Given the description of an element on the screen output the (x, y) to click on. 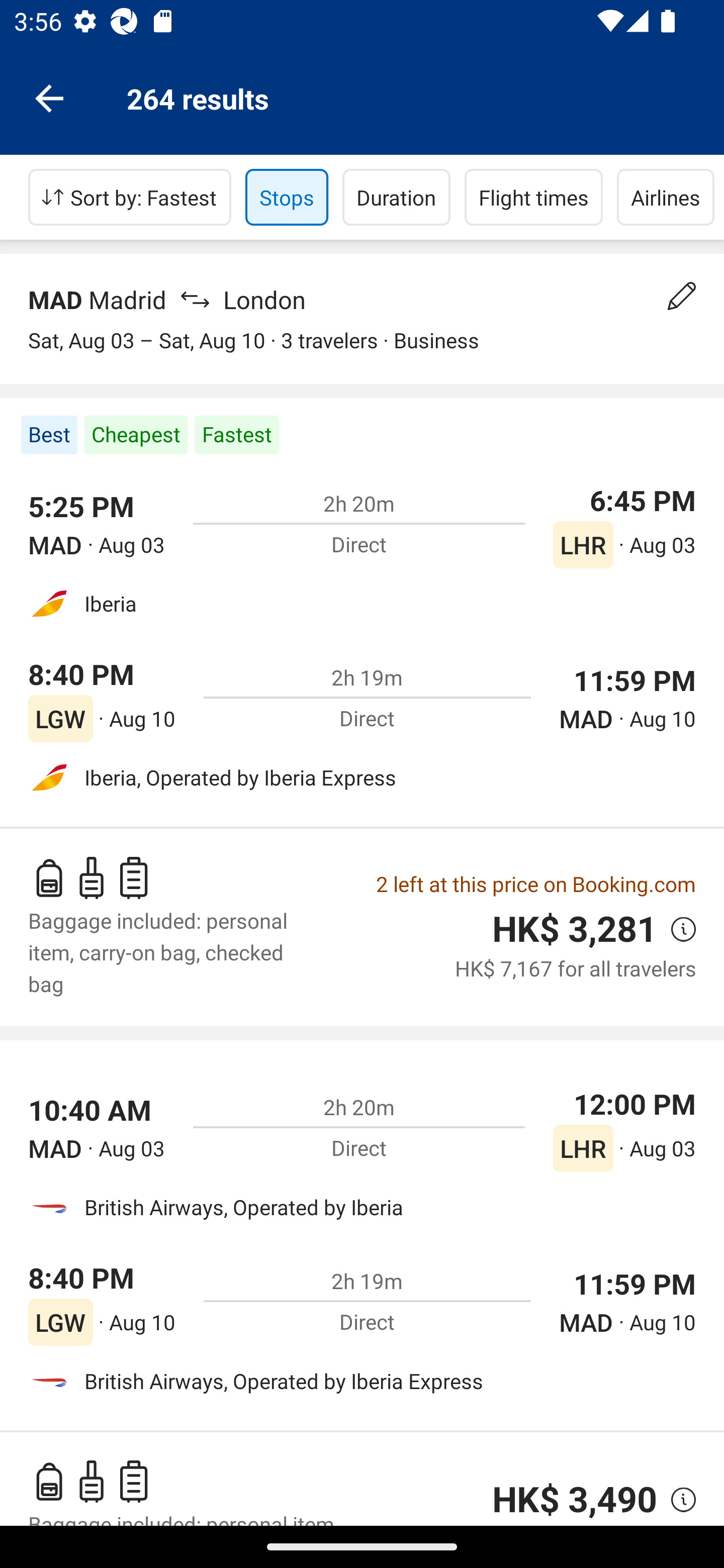
Navigate up (49, 97)
Sort by: Fastest (129, 197)
Stops (286, 197)
Duration (396, 197)
Flight times (533, 197)
Airlines (665, 197)
Change your search details (681, 296)
HK$ 3,281 (574, 928)
view price details, opens a pop-up (676, 928)
HK$ 3,490 (574, 1499)
view price details, opens a pop-up (676, 1499)
